Given the description of an element on the screen output the (x, y) to click on. 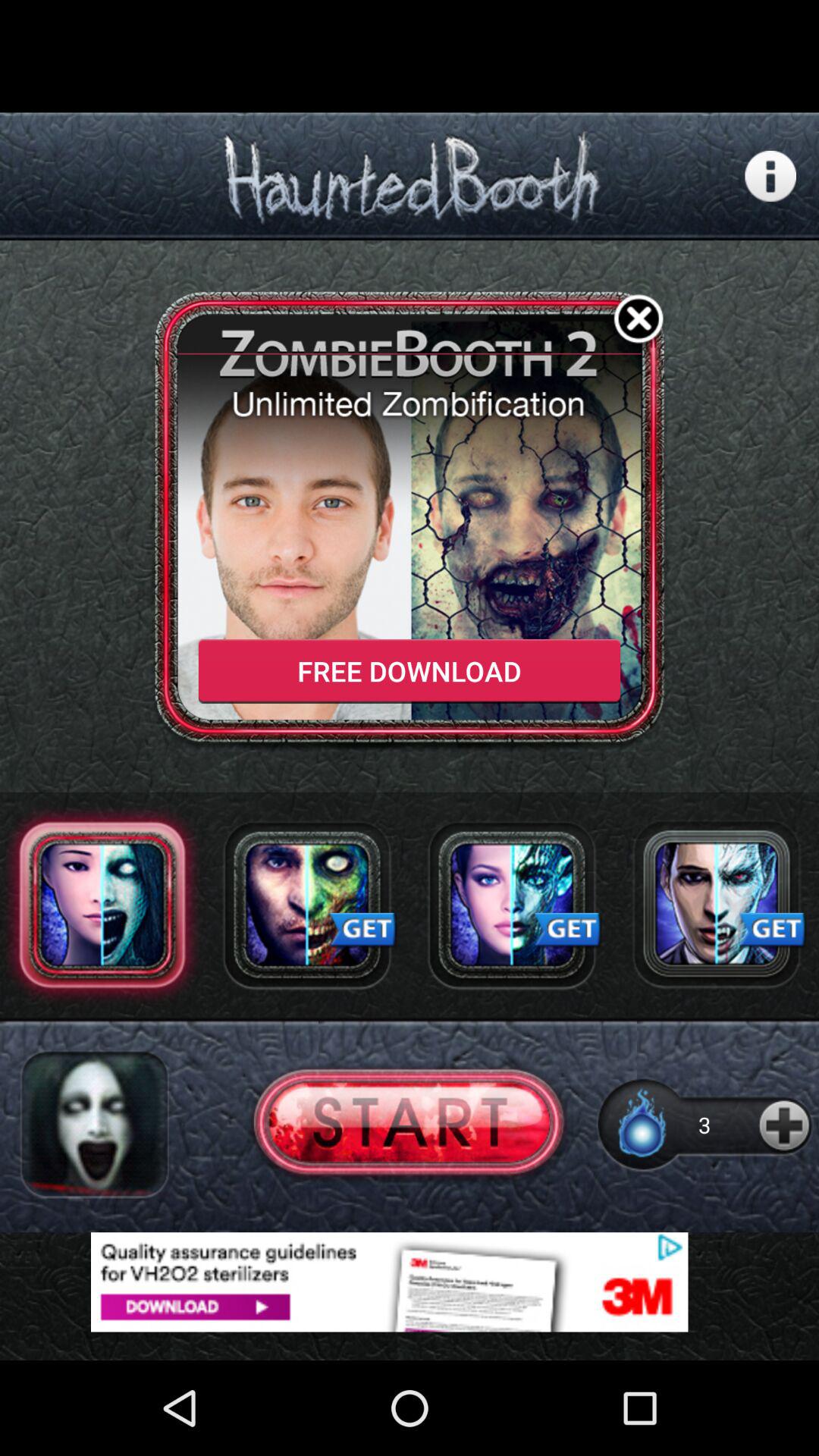
info button (770, 175)
